Given the description of an element on the screen output the (x, y) to click on. 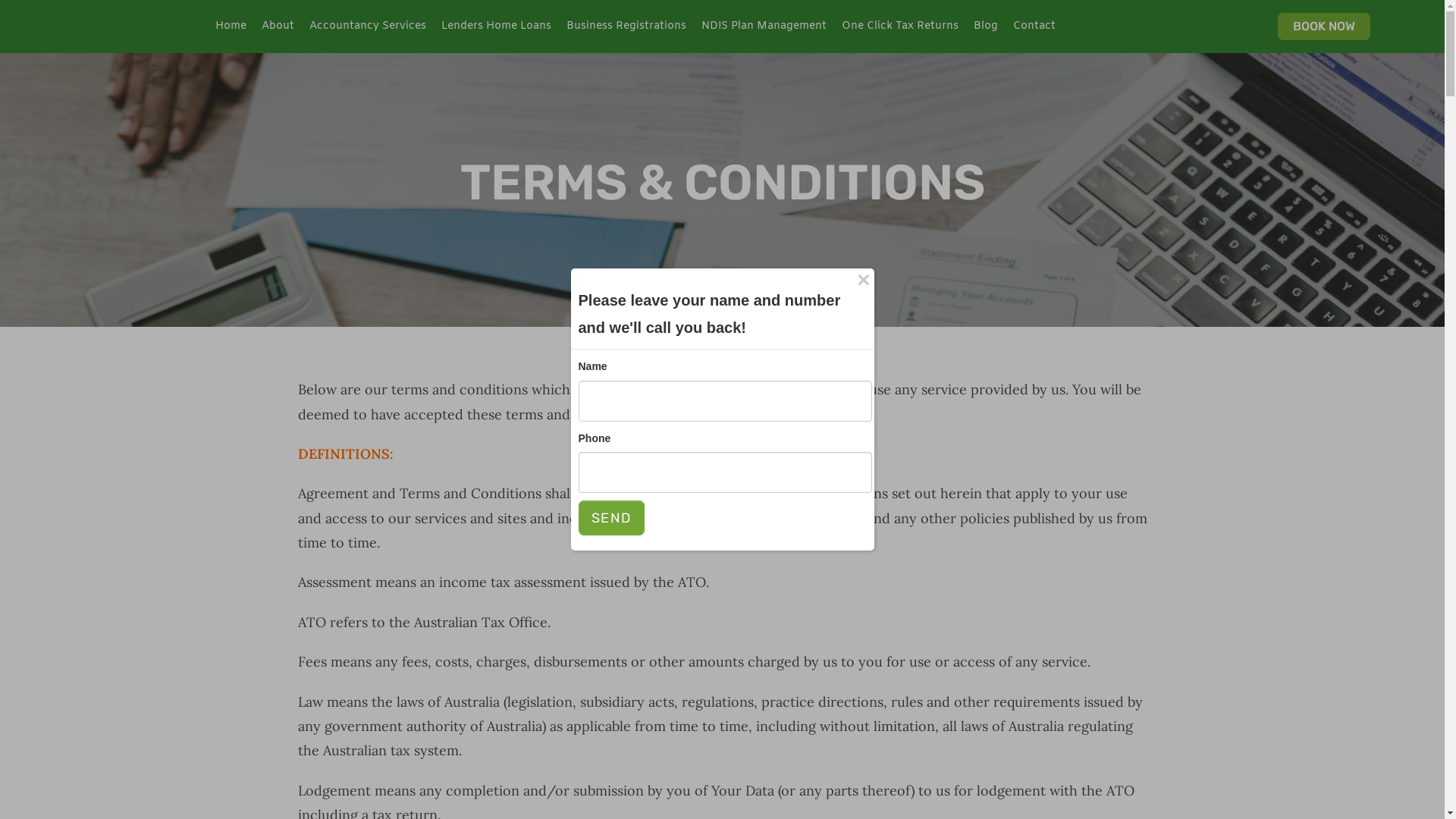
Accountancy Services Element type: text (367, 26)
About Element type: text (277, 26)
One Click Tax Returns Element type: text (899, 26)
Blog Element type: text (985, 26)
Home Element type: text (230, 26)
Business Registrations Element type: text (626, 26)
BOOK NOW Element type: text (1323, 26)
NDIS Plan Management Element type: text (763, 26)
Send Element type: text (610, 517)
Contact Element type: text (1034, 26)
Lenders Home Loans Element type: text (496, 26)
